Given the description of an element on the screen output the (x, y) to click on. 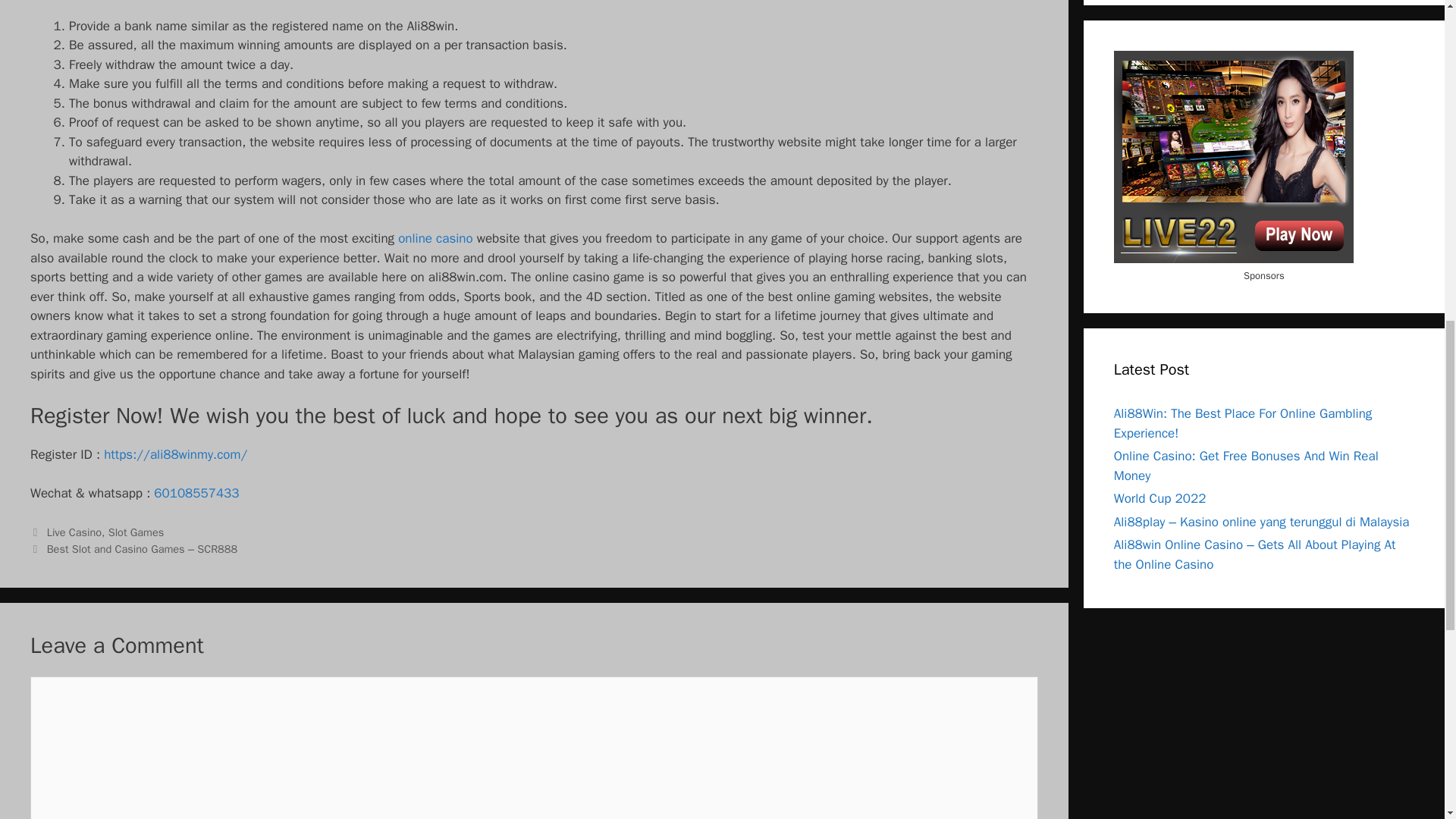
Live Casino (73, 531)
Slot Games (135, 531)
60108557433 (196, 493)
Next (133, 549)
Online Casino: Get Free Bonuses And Win Real Money (1245, 465)
Ali88Win: The Best Place For Online Gambling Experience! (1243, 423)
online casino (434, 238)
World Cup 2022 (1160, 498)
